Given the description of an element on the screen output the (x, y) to click on. 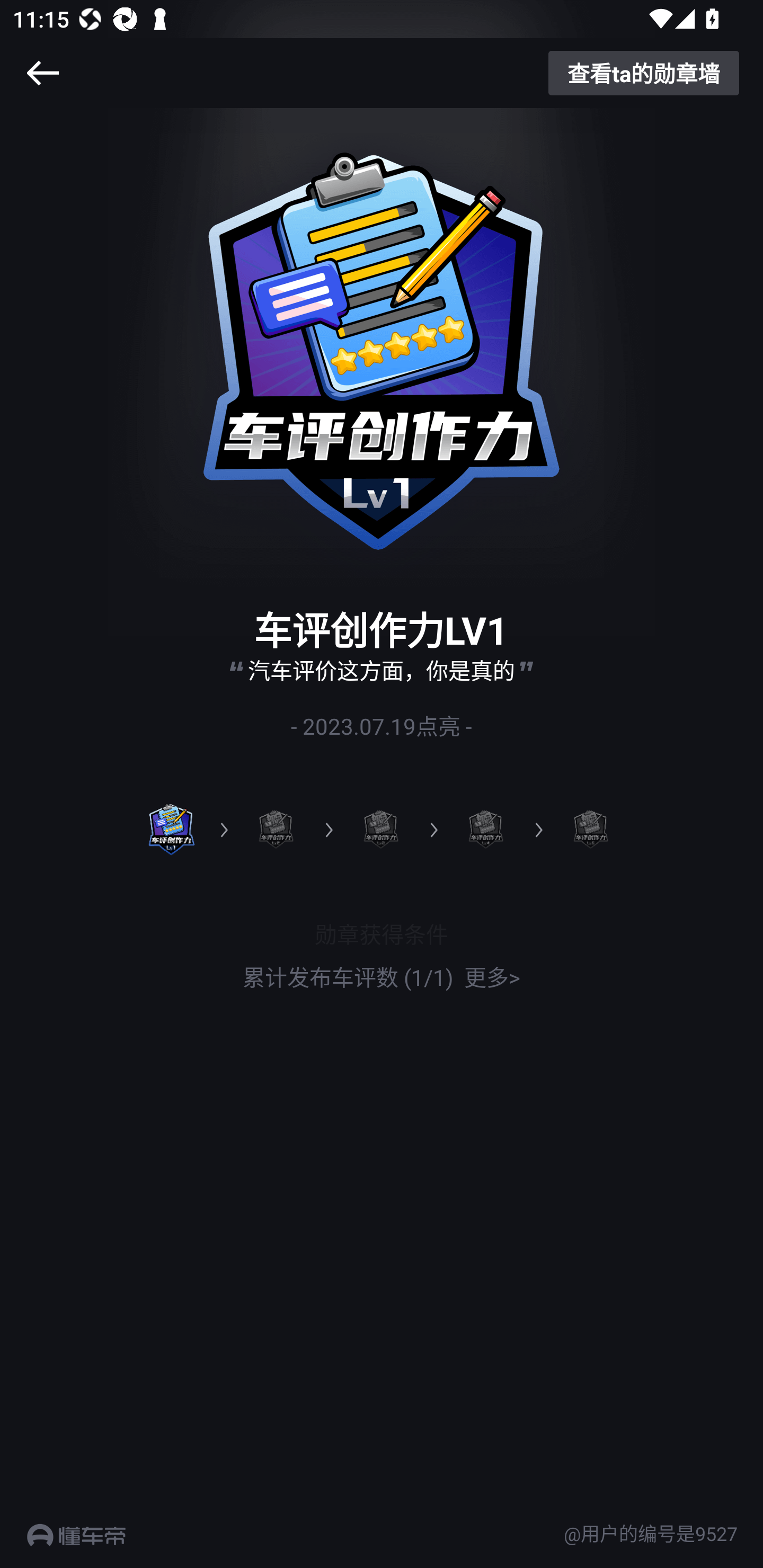
查看ta的勋章墙 (643, 72)
 (42, 72)
勋章获得条件 (381, 933)
累计发布车评数 (1/1)  更多> (381, 977)
